Given the description of an element on the screen output the (x, y) to click on. 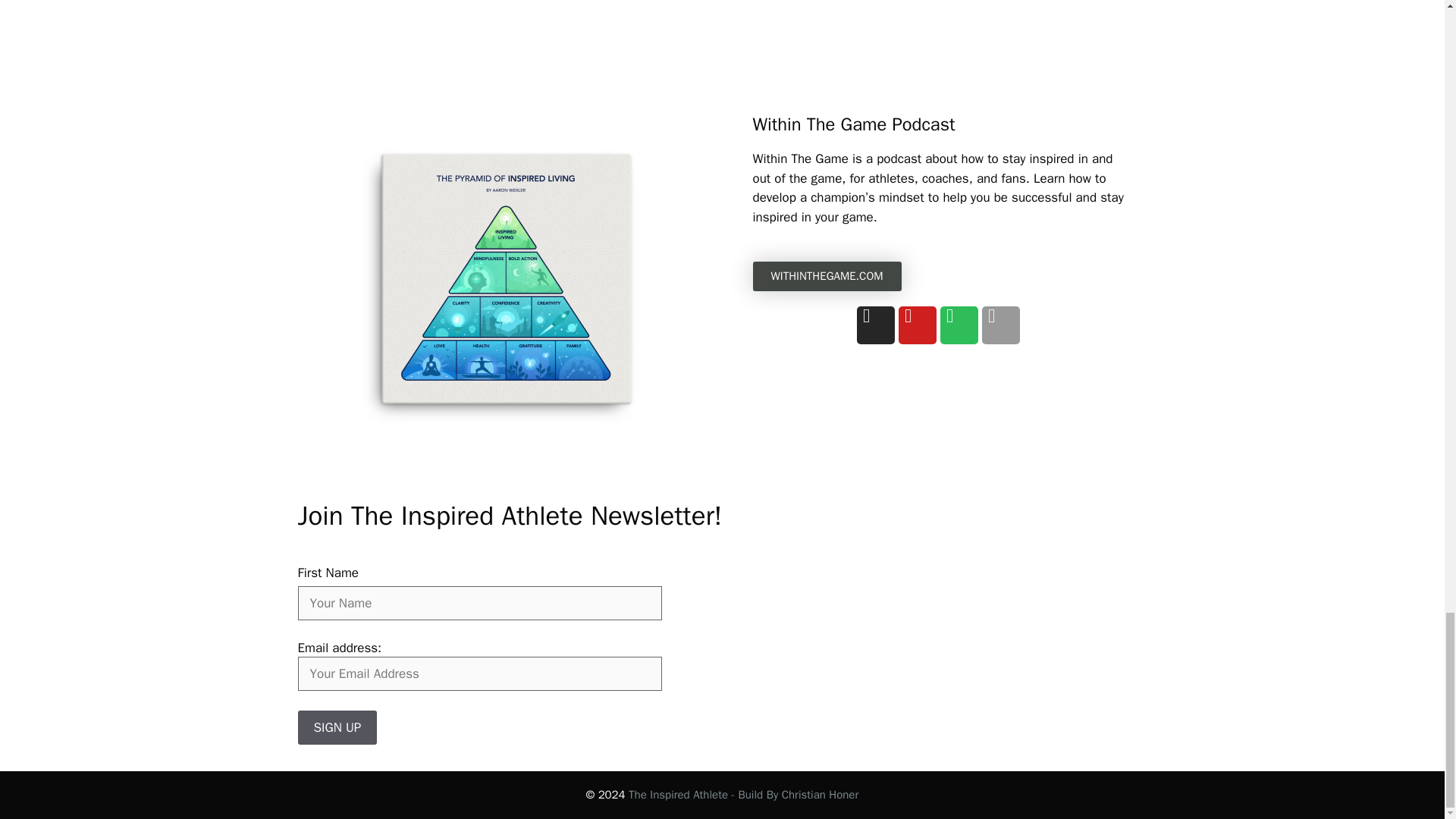
Sign up (337, 727)
Sign up (337, 727)
WITHINTHEGAME.COM (826, 276)
